Given the description of an element on the screen output the (x, y) to click on. 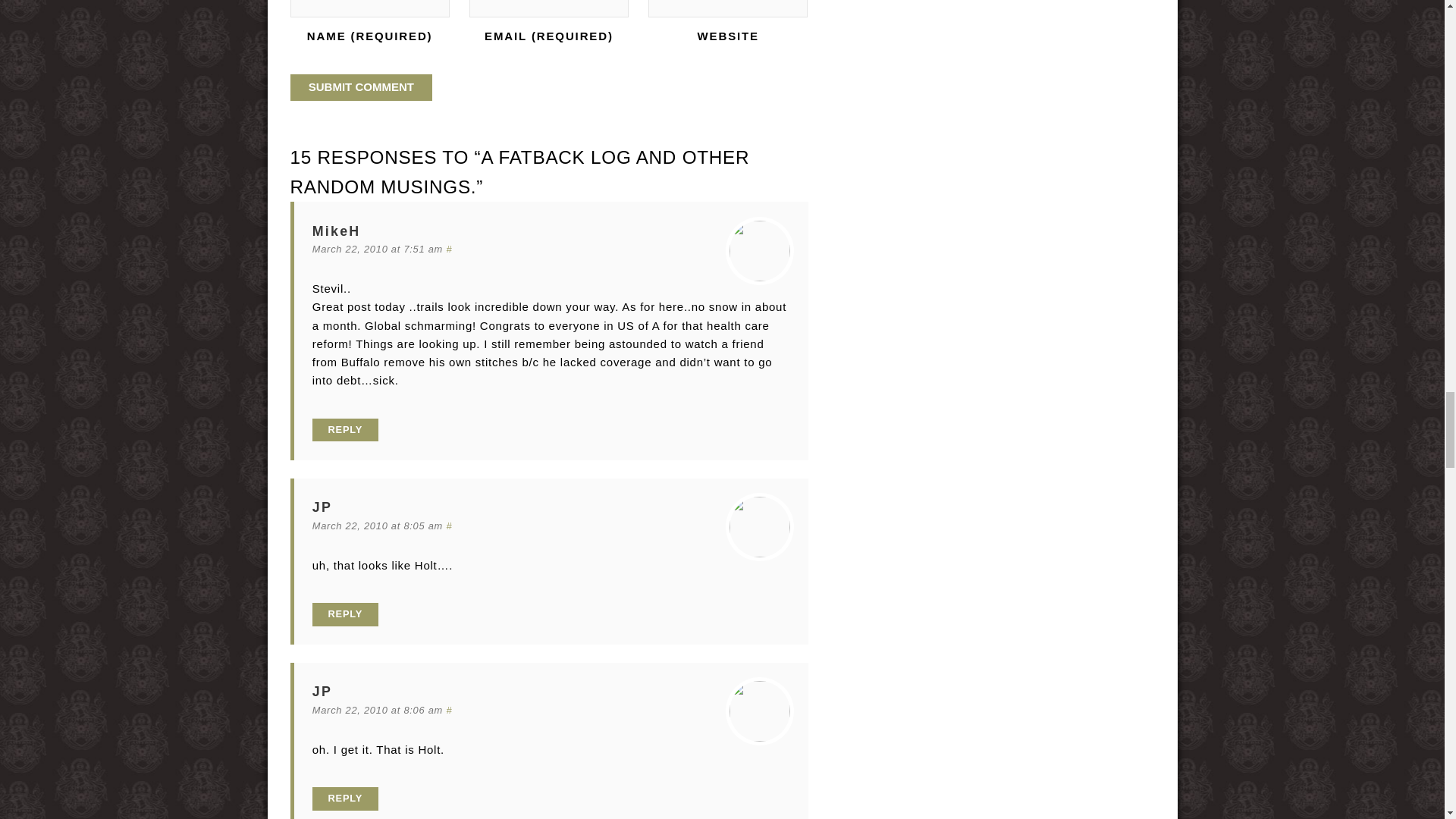
Submit Comment (360, 87)
Submit Comment (360, 87)
REPLY (345, 614)
REPLY (345, 430)
REPLY (345, 798)
